Given the description of an element on the screen output the (x, y) to click on. 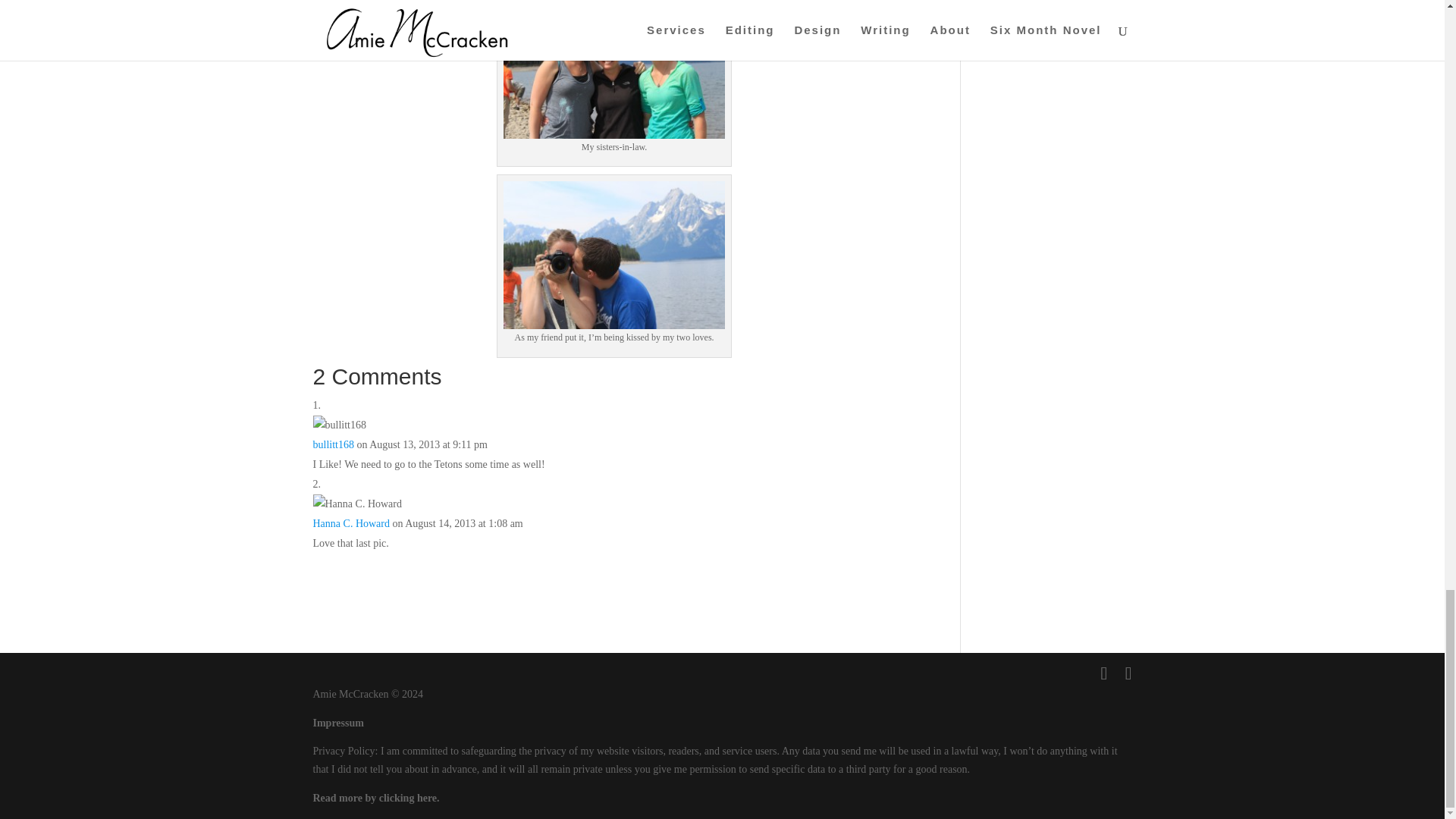
bullitt168 (333, 444)
Hanna C. Howard (350, 523)
Impressum (337, 722)
Read more by clicking here. (376, 797)
